Given the description of an element on the screen output the (x, y) to click on. 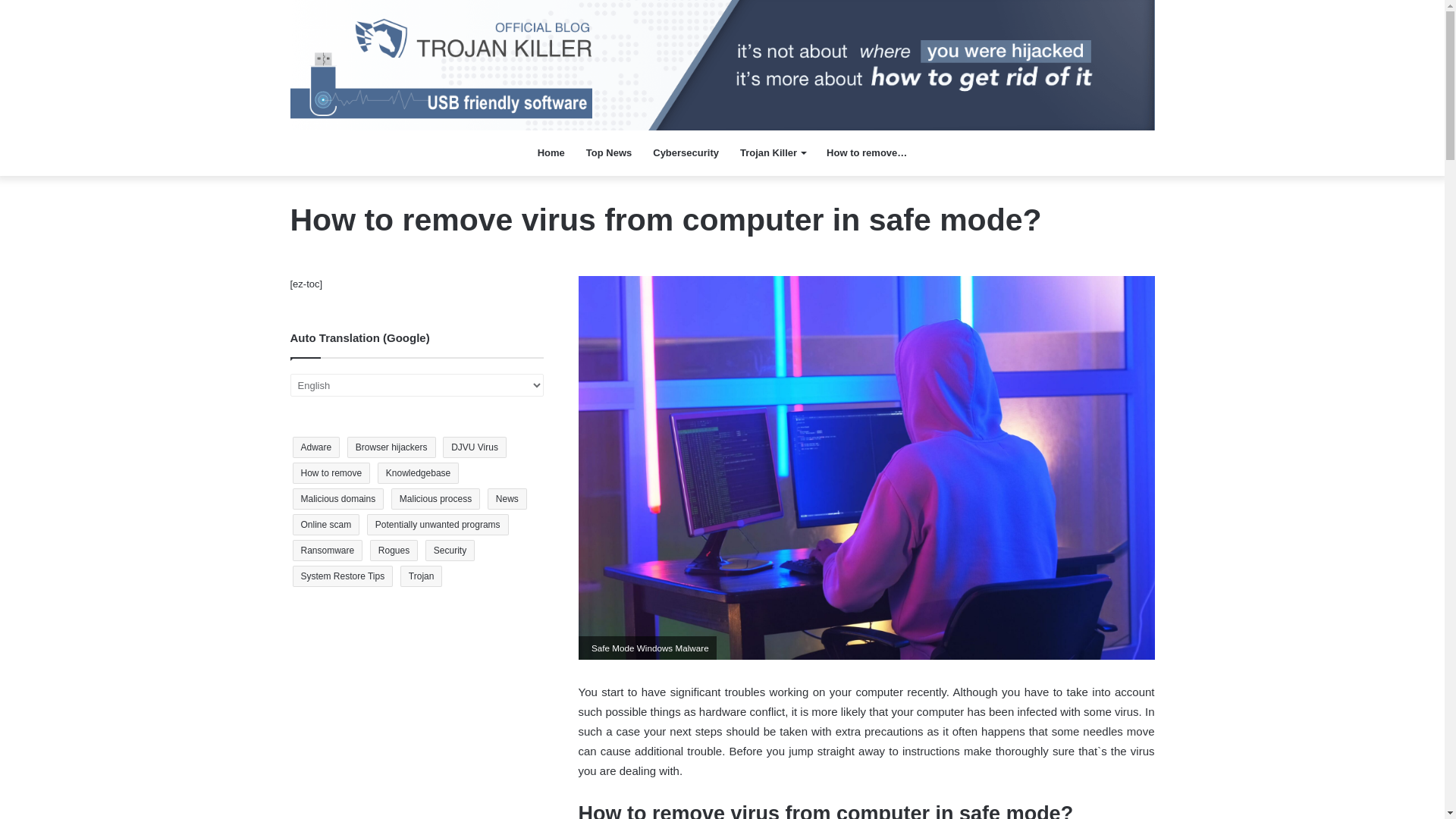
Browser hijackers (391, 446)
How to remove (331, 473)
Trojan (421, 576)
Adware (316, 446)
Rogues (393, 550)
Malicious domains (338, 498)
Cybersecurity (685, 153)
Ransomware (327, 550)
Online scam (325, 524)
System Restore Tips (342, 576)
